Given the description of an element on the screen output the (x, y) to click on. 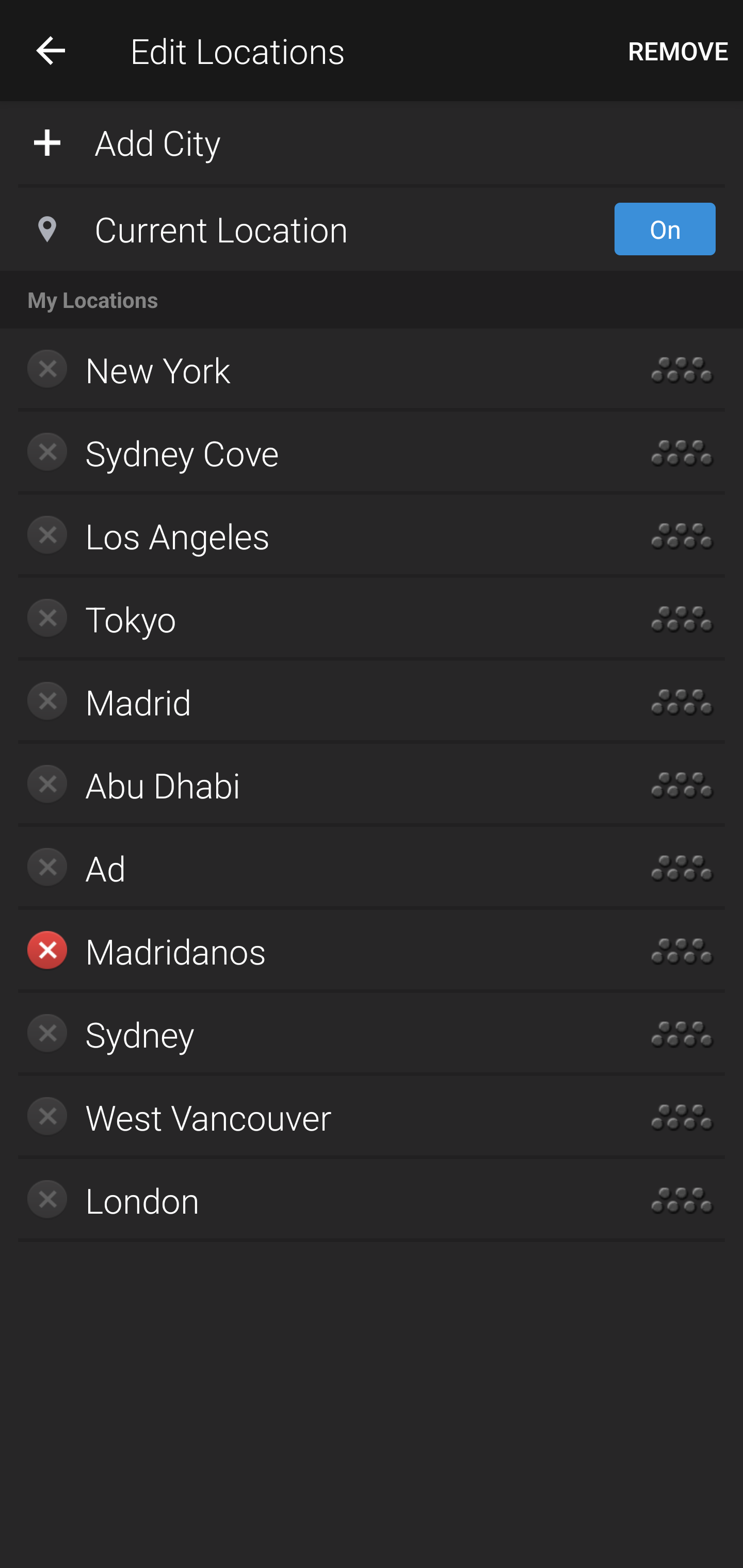
Navigate up (50, 50)
REMOVE (677, 50)
Add City (371, 141)
Current Location: On Current Location On (371, 229)
Delete: New York New York (311, 369)
Delete: Sydney Cove Sydney Cove (311, 452)
Delete: Los Angeles Los Angeles (311, 535)
Delete: Tokyo Tokyo (311, 618)
Delete: Madrid Madrid (311, 701)
Delete: Abu Dhabi Abu Dhabi (311, 784)
Delete: Ad Ad (311, 867)
Delete: Madridanos: Selected Madridanos (311, 950)
Delete: Sydney Sydney (311, 1033)
Delete: West Vancouver West Vancouver (311, 1116)
Delete: London London (311, 1200)
